Given the description of an element on the screen output the (x, y) to click on. 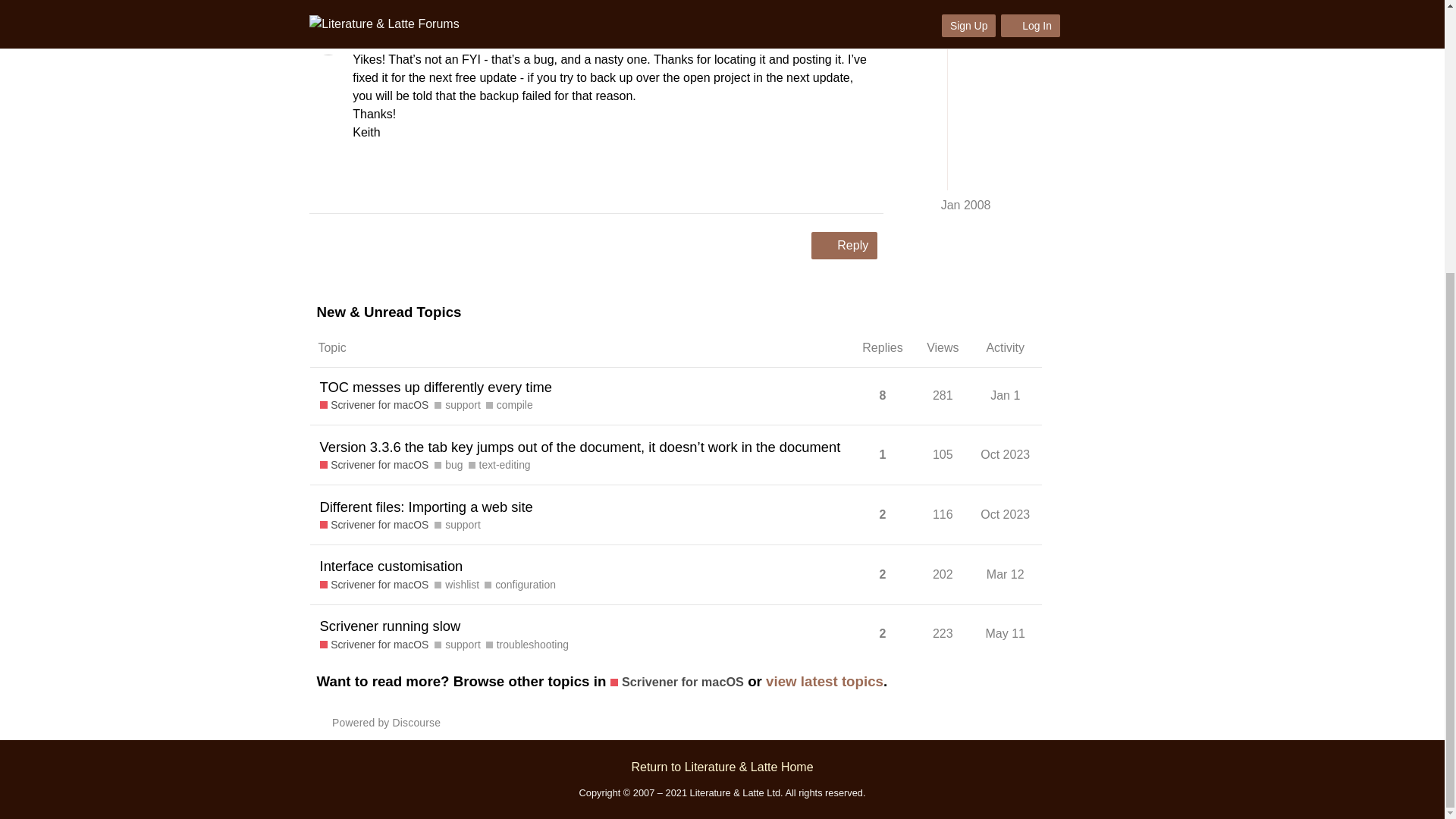
support (456, 405)
Scrivener for macOS (374, 524)
compile (377, 0)
copy a link to this post to clipboard (509, 405)
Oct 2023 (869, 184)
Different files: Importing a web site (1004, 454)
Scrivener for macOS (426, 505)
Scrivener for macOS (374, 465)
This user is a moderator (374, 405)
Jan 2008 (378, 25)
Jan 1 (850, 25)
like this post (1005, 395)
text-editing (835, 184)
Post date (499, 465)
